Given the description of an element on the screen output the (x, y) to click on. 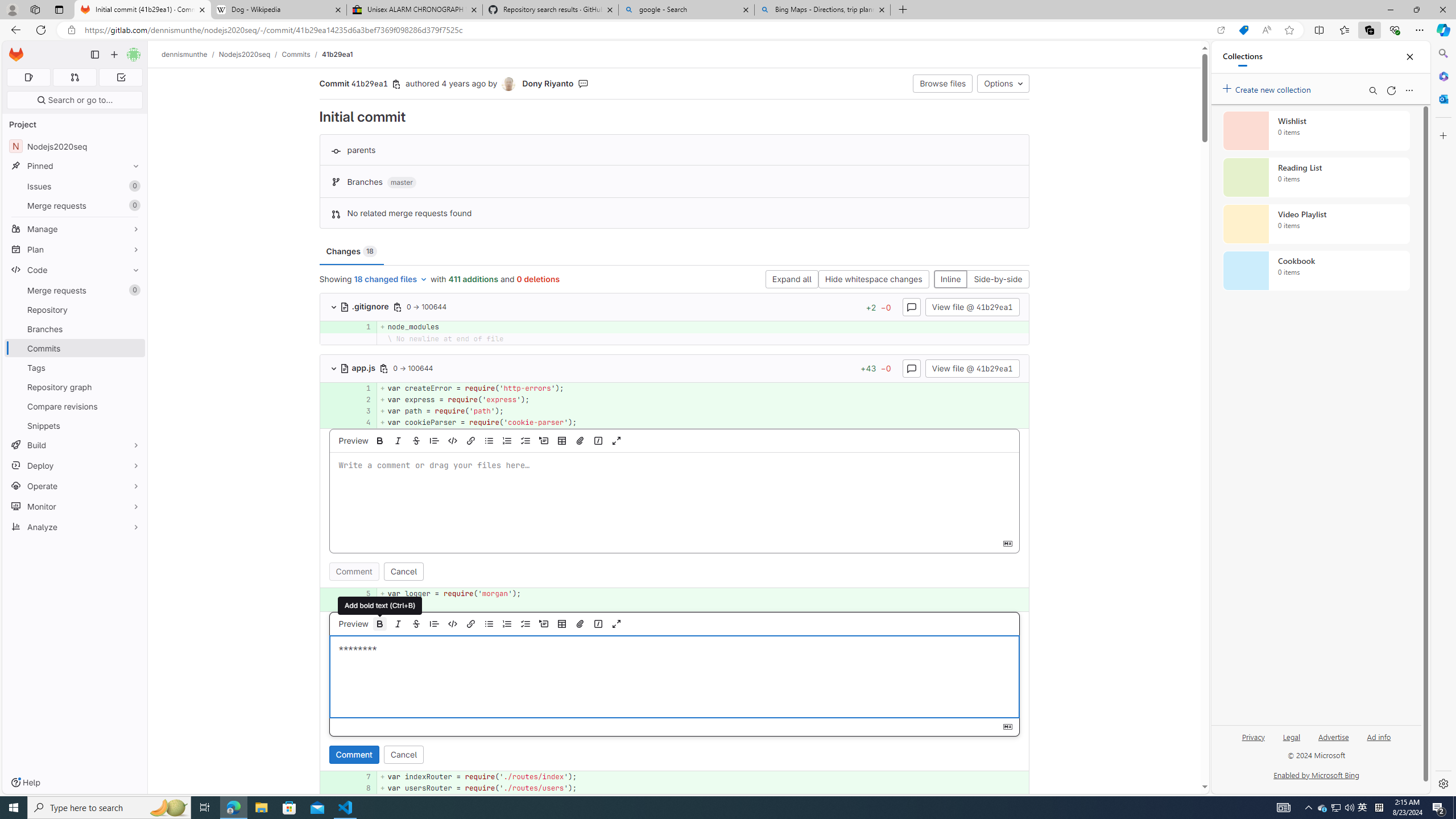
5 (360, 594)
Shopping in Microsoft Edge (1243, 29)
Commits/ (301, 53)
Build (74, 444)
Dony Riyanto's avatar (508, 83)
Add a comment to this line (320, 788)
Add bold text (Ctrl+B) (379, 623)
AutomationID: 4a68969ef8e858229267b842dedf42ab5dde4d50_0_2 (674, 399)
+ var createError = require('http-errors');  (703, 387)
app.js  (358, 367)
18 changed files (390, 279)
Outlook (1442, 98)
+ var express = require('express');  (703, 399)
Issues0 (74, 185)
Privacy (1253, 736)
